Given the description of an element on the screen output the (x, y) to click on. 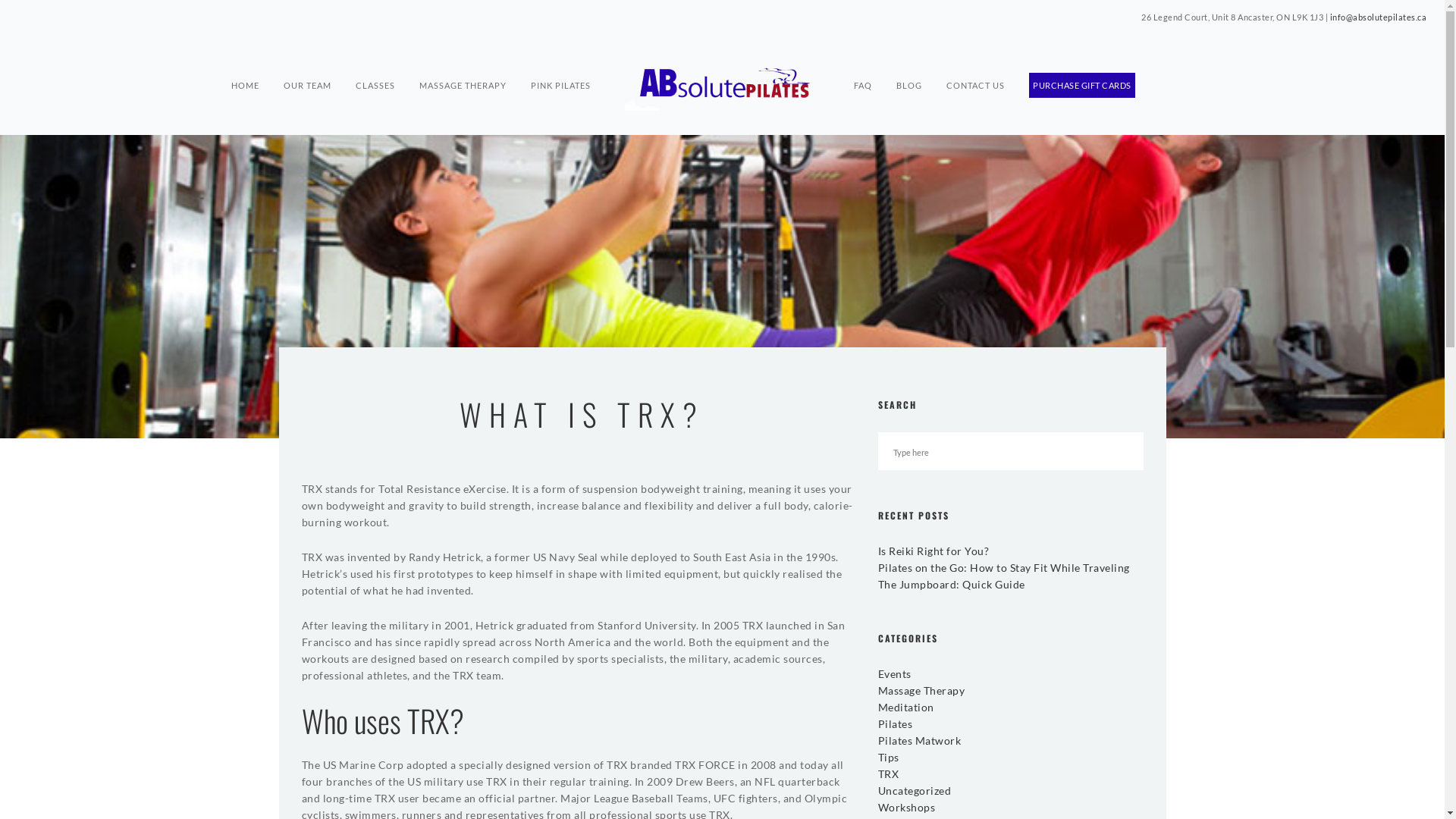
The Jumpboard: Quick Guide   Element type: text (954, 583)
Massage Therapy Element type: text (921, 690)
Pilates Element type: text (895, 723)
CLASSES Element type: text (375, 57)
Tips Element type: text (888, 756)
Is Reiki Right for You?  Element type: text (934, 550)
BLOG Element type: text (909, 57)
Pilates on the Go: How to Stay Fit While Traveling  Element type: text (1005, 567)
TRX Element type: text (888, 773)
FAQ Element type: text (862, 57)
CONTACT US Element type: text (975, 57)
OUR TEAM Element type: text (307, 57)
HOME Element type: text (245, 57)
Pilates Matwork Element type: text (919, 740)
PURCHASE GIFT CARDS Element type: text (1082, 57)
PINK PILATES Element type: text (560, 57)
info@absolutepilates.ca Element type: text (1378, 16)
Meditation Element type: text (906, 706)
Events Element type: text (894, 673)
MASSAGE THERAPY Element type: text (462, 57)
Workshops Element type: text (906, 806)
Uncategorized Element type: text (914, 790)
